Given the description of an element on the screen output the (x, y) to click on. 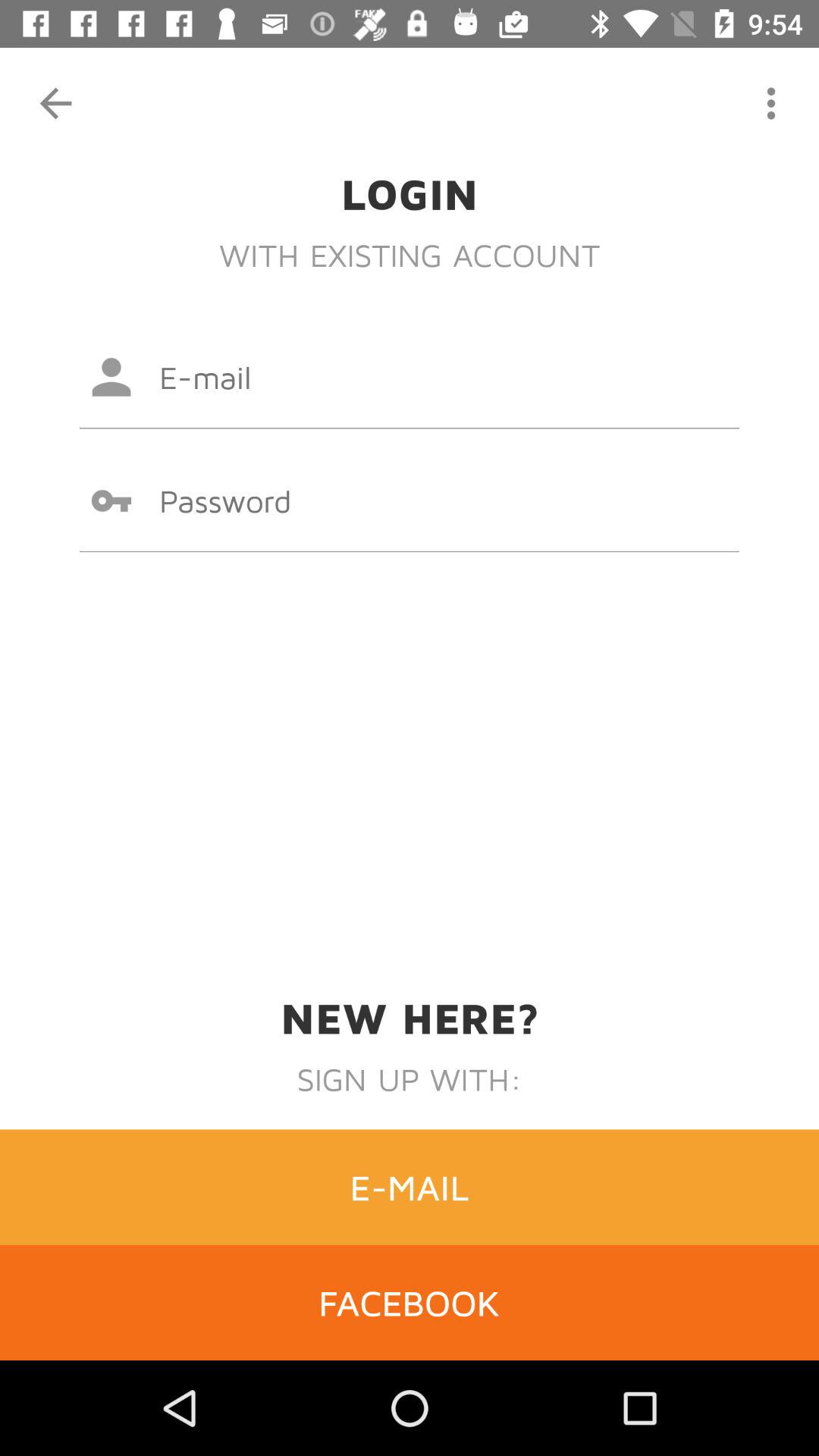
open the e-mail icon (409, 1186)
